Given the description of an element on the screen output the (x, y) to click on. 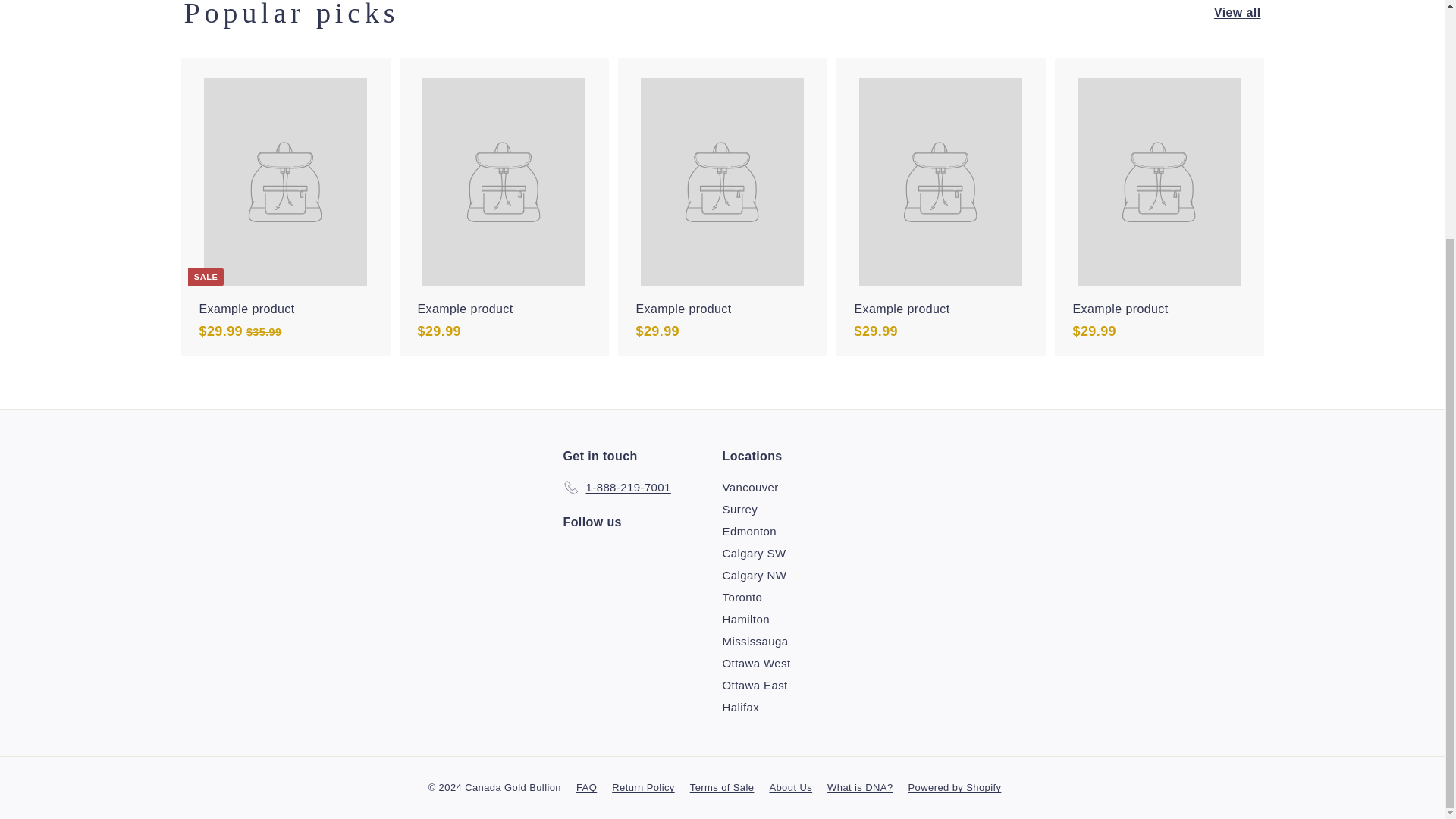
Toronto (741, 597)
Return Policy (650, 787)
Calgary NW (754, 575)
Calgary SW (754, 553)
1-888-219-7001 (615, 486)
Ottawa East (754, 685)
Surrey (739, 508)
Hamilton (745, 618)
What is DNA? (867, 787)
Terms of Sale (730, 787)
